Given the description of an element on the screen output the (x, y) to click on. 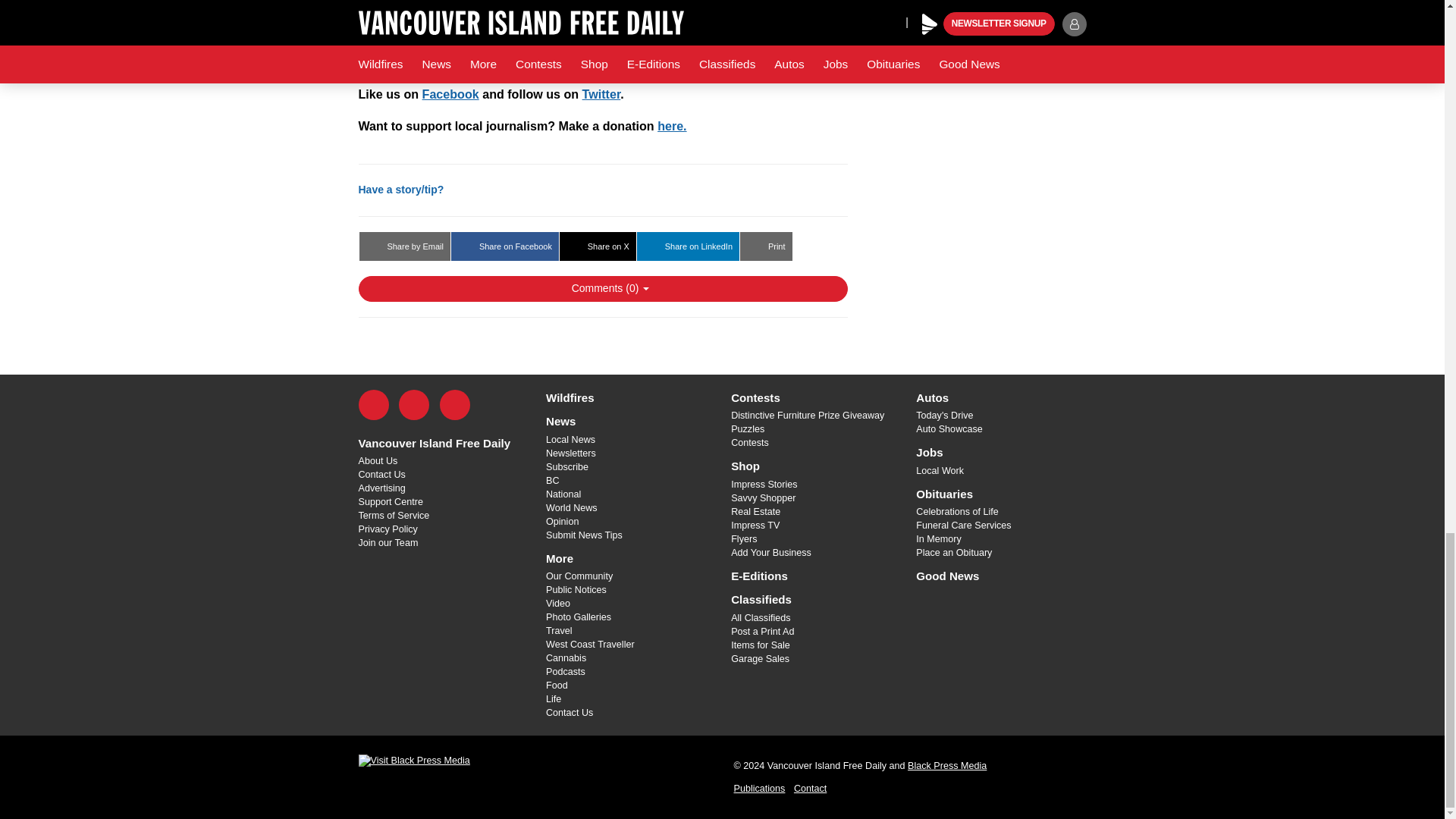
Facebook (373, 404)
Instagram (454, 404)
X (413, 404)
Show Comments (602, 289)
